Given the description of an element on the screen output the (x, y) to click on. 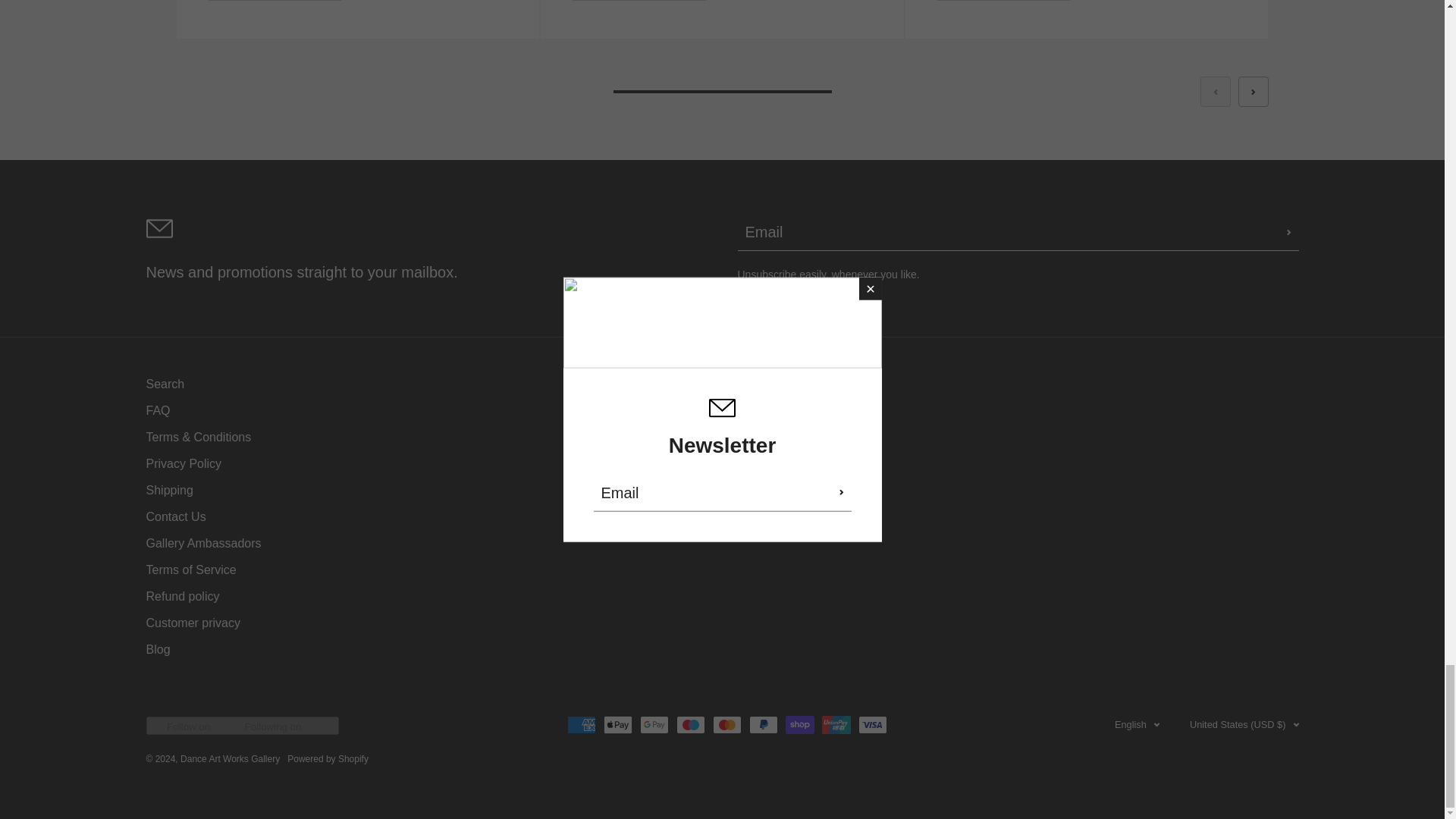
Apple Pay (617, 724)
Google Pay (654, 724)
Maestro (690, 724)
American Express (581, 724)
